Given the description of an element on the screen output the (x, y) to click on. 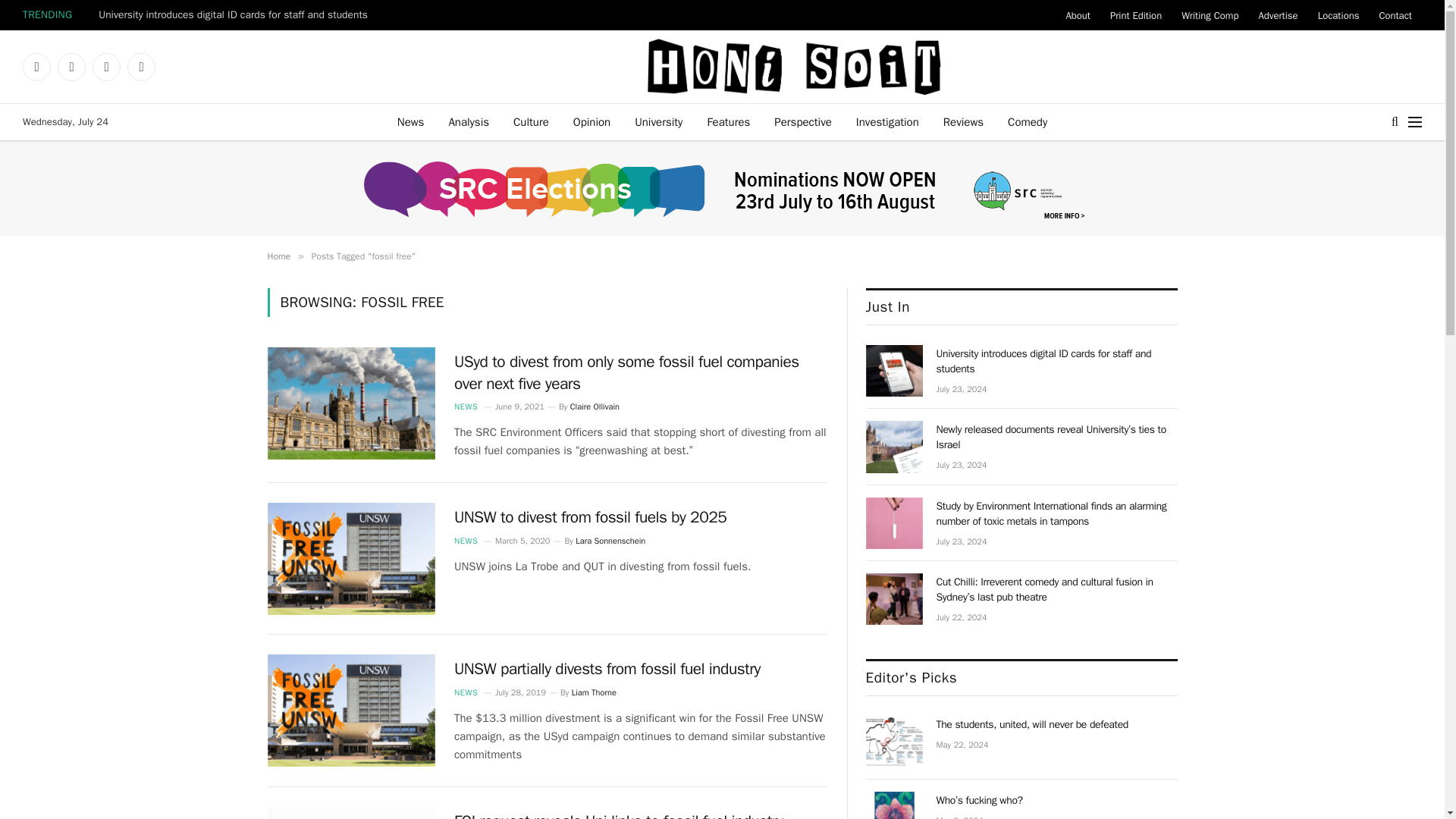
Writing Comp (1209, 15)
Honi Soit (793, 66)
Print Edition (1136, 15)
Advertise (1277, 15)
About (1077, 15)
Home (277, 256)
UNSW partially divests from fossil fuel industry (349, 710)
News (410, 122)
Opinion (591, 122)
FOI request reveals Uni links to fossil fuel industry (349, 812)
Reviews (963, 122)
Locations (1338, 15)
Instagram (71, 67)
Comedy (1027, 122)
